Given the description of an element on the screen output the (x, y) to click on. 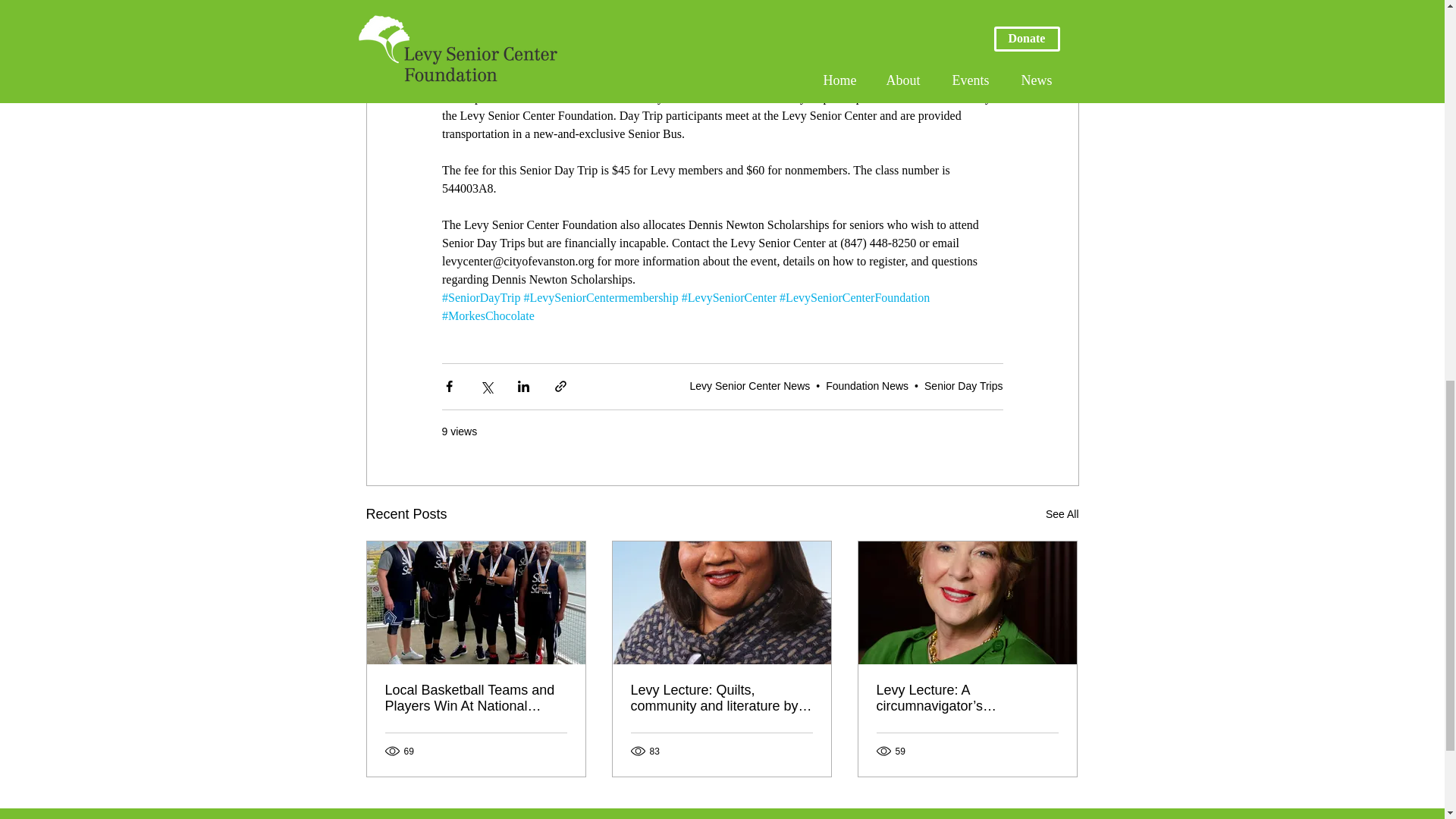
Senior Day Trips (963, 386)
Levy Senior Center News (750, 386)
Foundation News (866, 386)
